Given the description of an element on the screen output the (x, y) to click on. 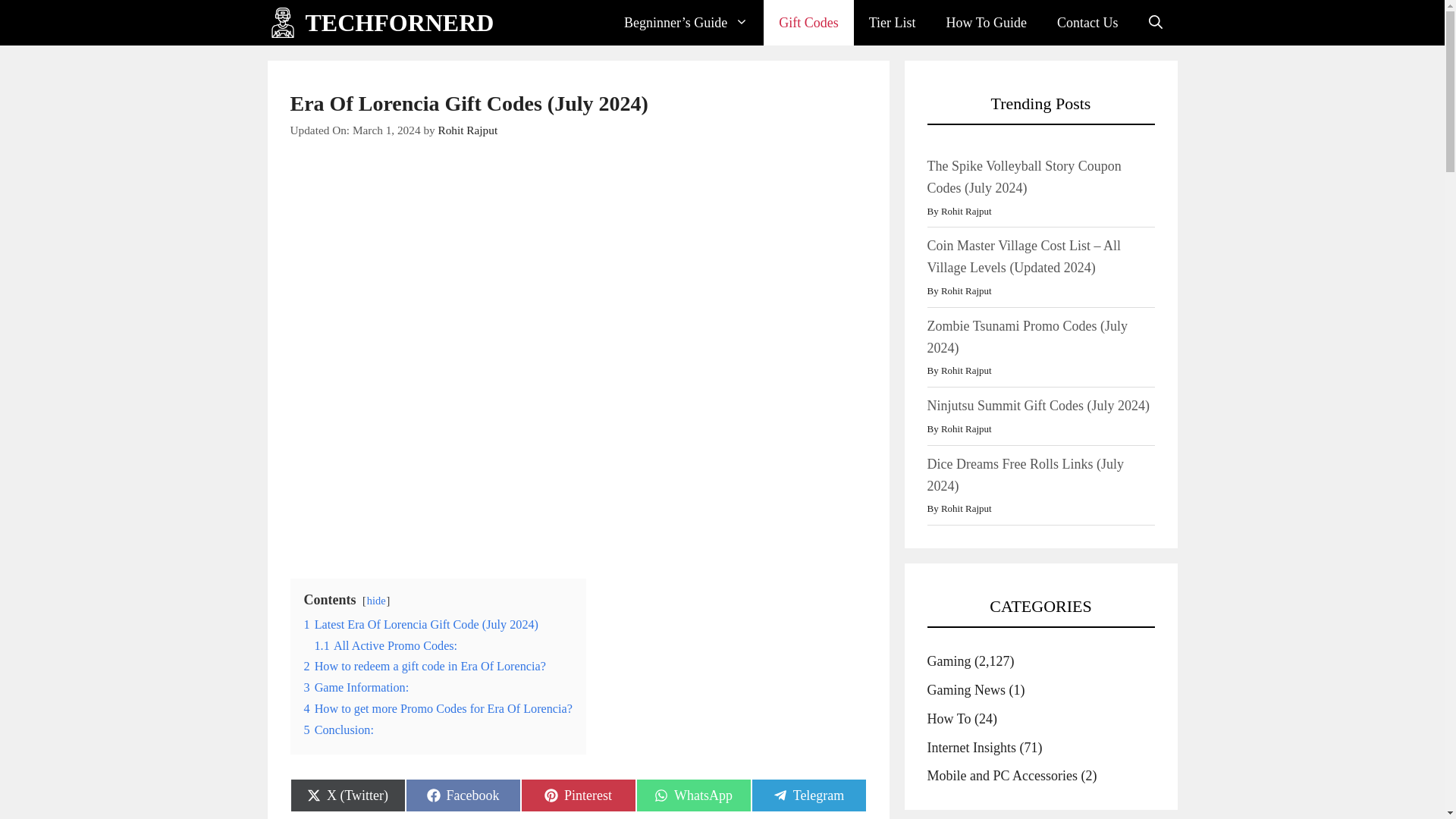
Gift Codes (807, 22)
1.1 All Active Promo Codes: (385, 645)
hide (375, 600)
3 Game Information: (355, 687)
How To Guide (986, 22)
2 How to redeem a gift code in Era Of Lorencia? (692, 795)
Tier List (423, 666)
TECHFORNERD (892, 22)
Contact Us (398, 22)
5 Conclusion: (1088, 22)
4 How to get more Promo Codes for Era Of Lorencia? (576, 795)
View all posts by Rohit Rajput (461, 795)
